Given the description of an element on the screen output the (x, y) to click on. 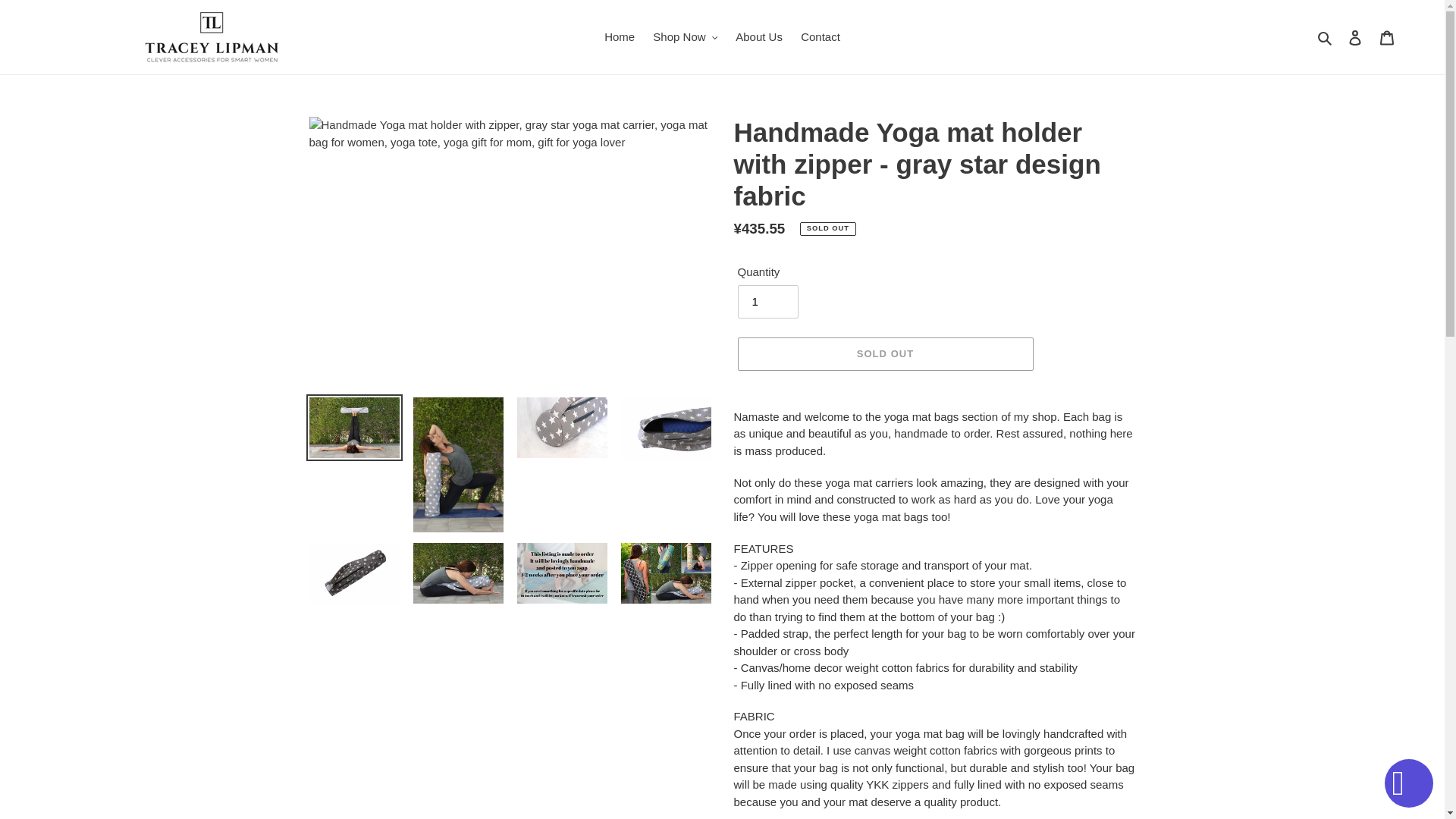
Log in (1355, 37)
Search (1326, 36)
Contact (820, 37)
Home (619, 37)
Shop Now (685, 37)
1 (766, 301)
Cart (1387, 37)
About Us (759, 37)
